Given the description of an element on the screen output the (x, y) to click on. 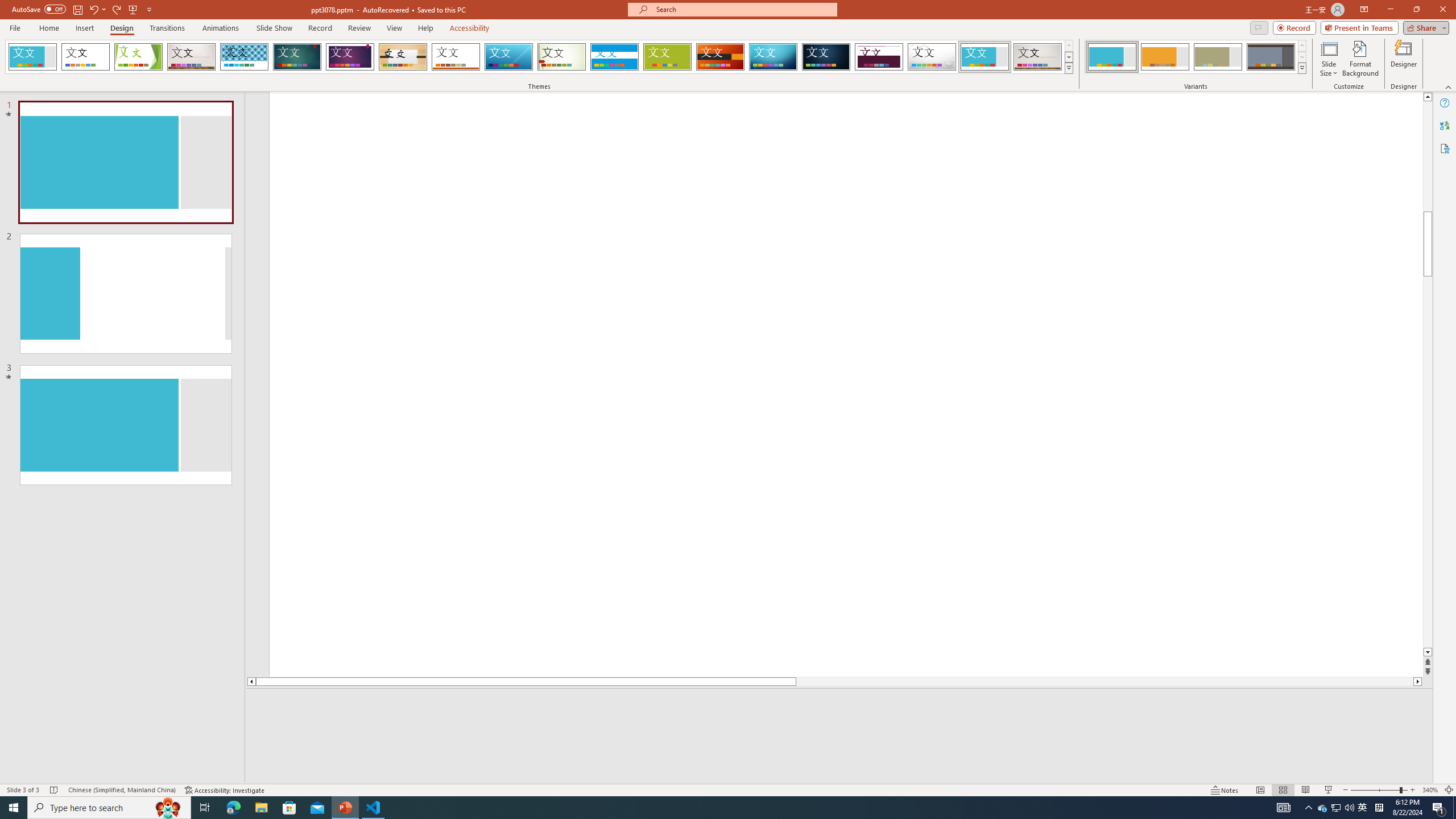
Frame (984, 56)
Dividend (879, 56)
Format Background (1360, 58)
Berlin (720, 56)
Facet (138, 56)
Frame Variant 4 (1270, 56)
Frame Variant 2 (1164, 56)
